Given the description of an element on the screen output the (x, y) to click on. 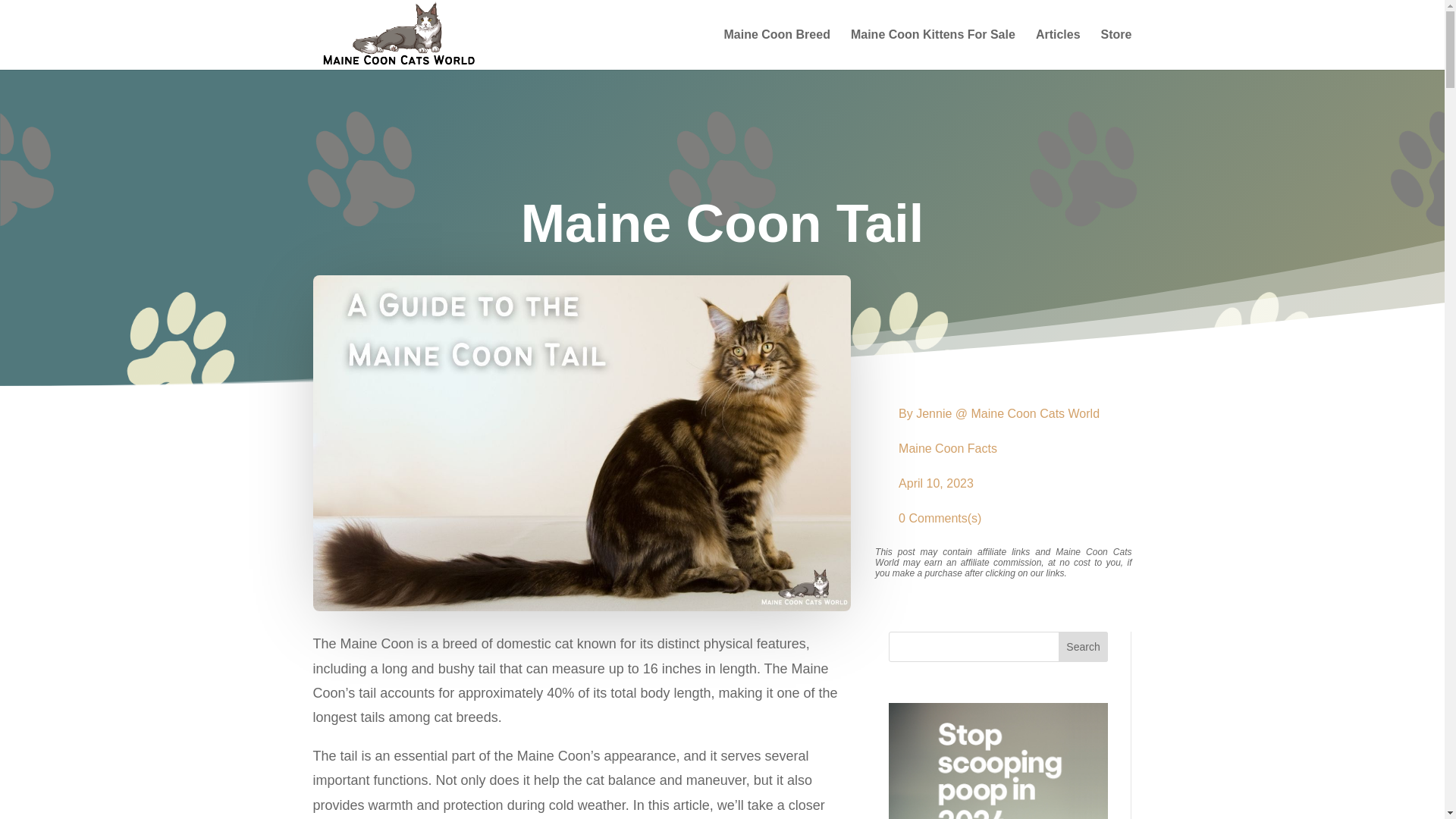
Search (1083, 646)
Maine Coon Facts (947, 448)
Articles (1057, 49)
Maine Coon Kittens For Sale (932, 49)
Search (1083, 646)
Maine Coon Breed (776, 49)
